Given the description of an element on the screen output the (x, y) to click on. 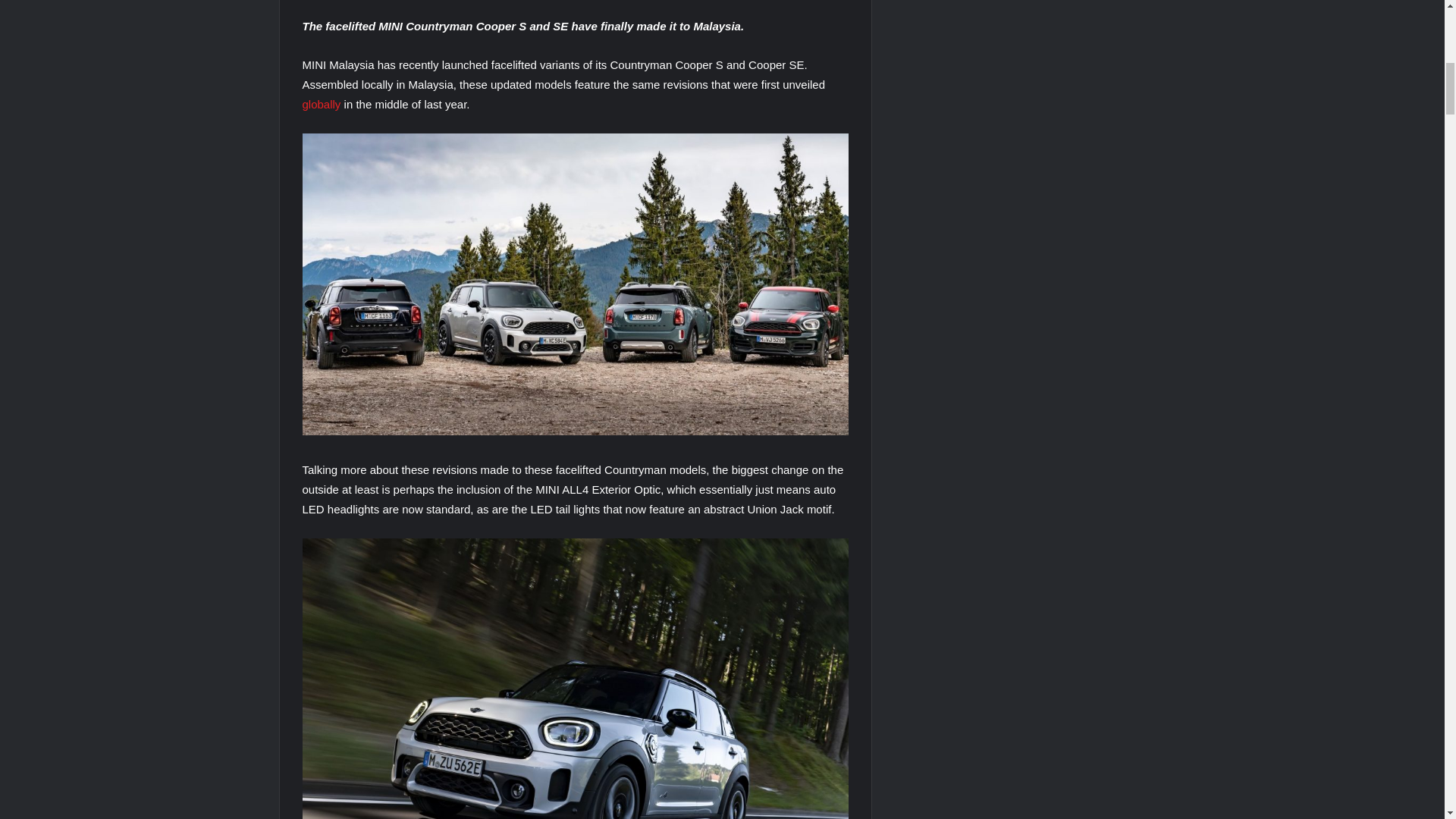
globally (320, 103)
